Given the description of an element on the screen output the (x, y) to click on. 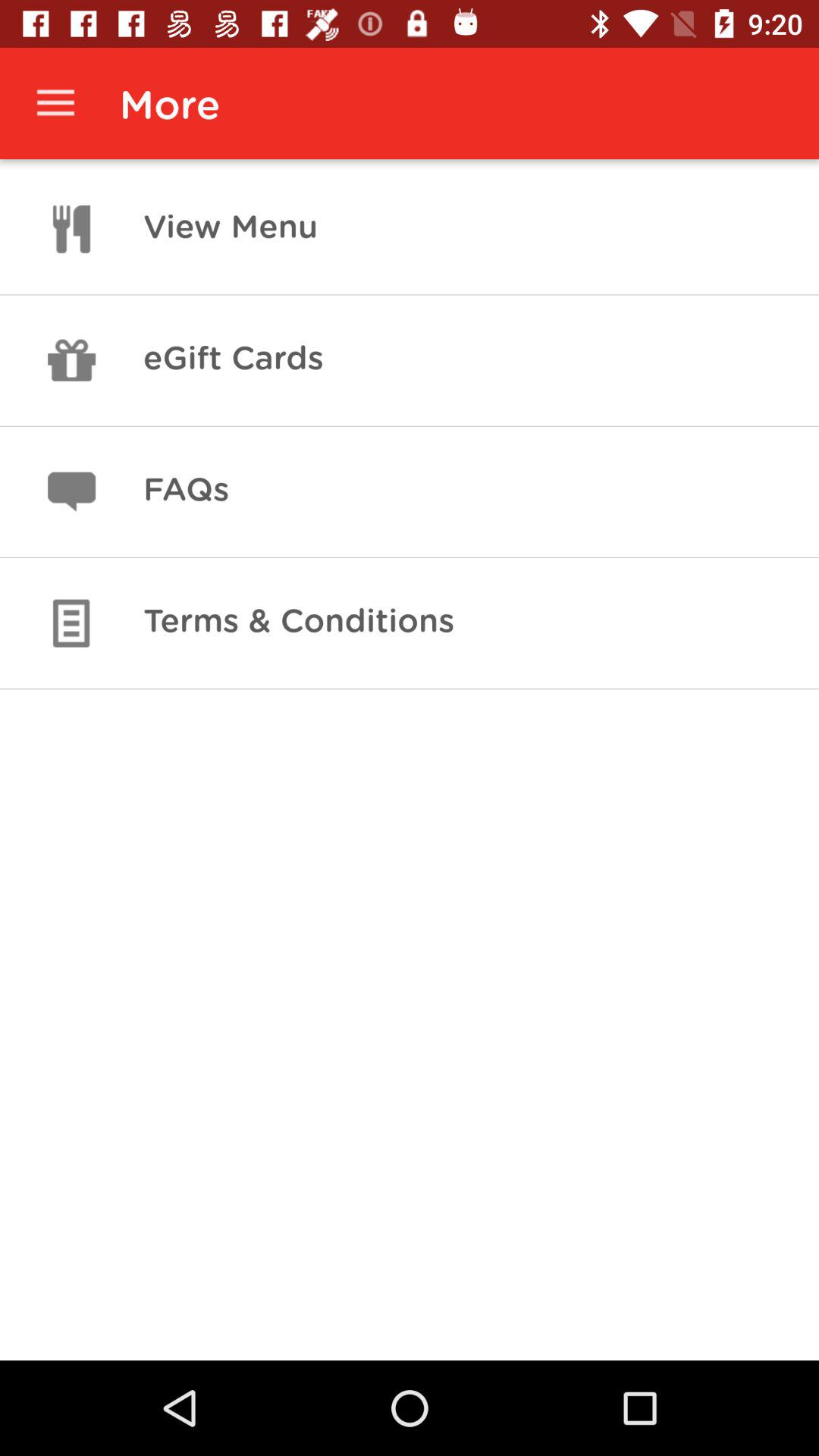
click icon to the left of more item (55, 103)
